Given the description of an element on the screen output the (x, y) to click on. 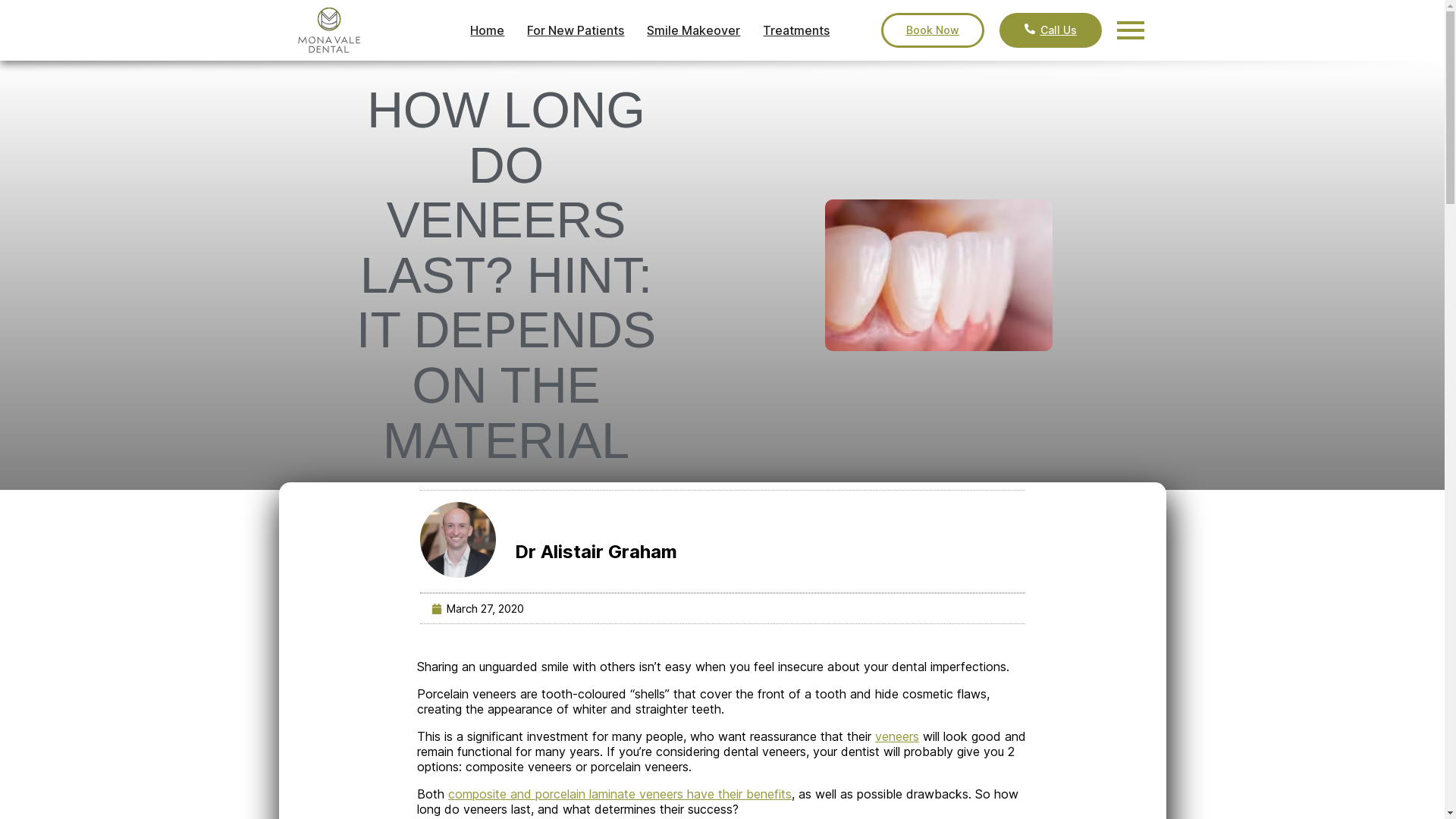
Home Element type: text (486, 29)
Call Us Element type: text (1050, 29)
Treatments Element type: text (795, 29)
Book Now Element type: text (932, 29)
Smile Makeover Element type: text (693, 29)
For New Patients Element type: text (575, 29)
composite and porcelain laminate veneers have their benefits Element type: text (619, 793)
Submit Element type: text (1289, 440)
veneers Element type: text (897, 735)
